Given the description of an element on the screen output the (x, y) to click on. 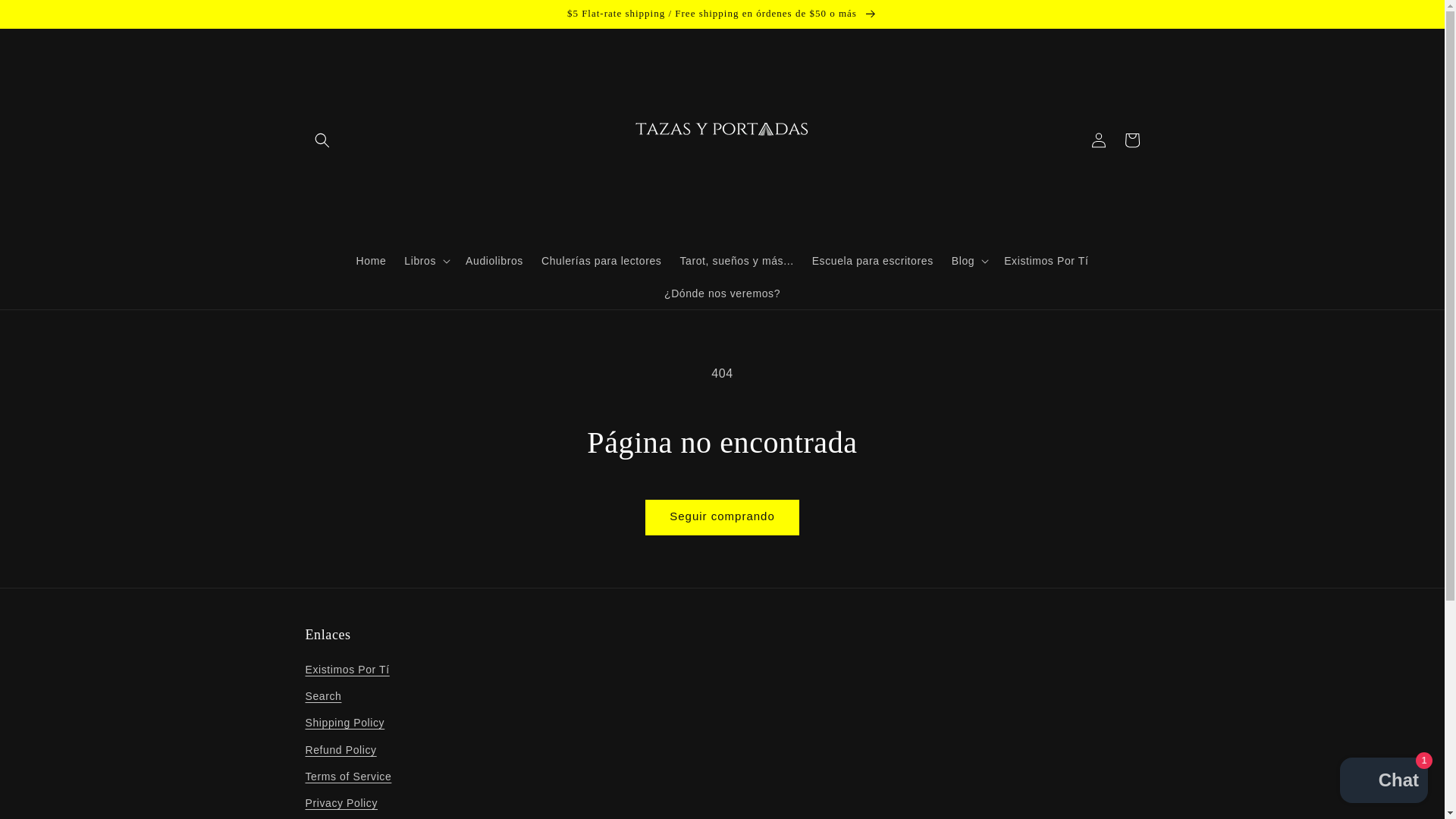
Ir directamente al contenido (45, 16)
Chat de la tienda online Shopify (1383, 781)
